Given the description of an element on the screen output the (x, y) to click on. 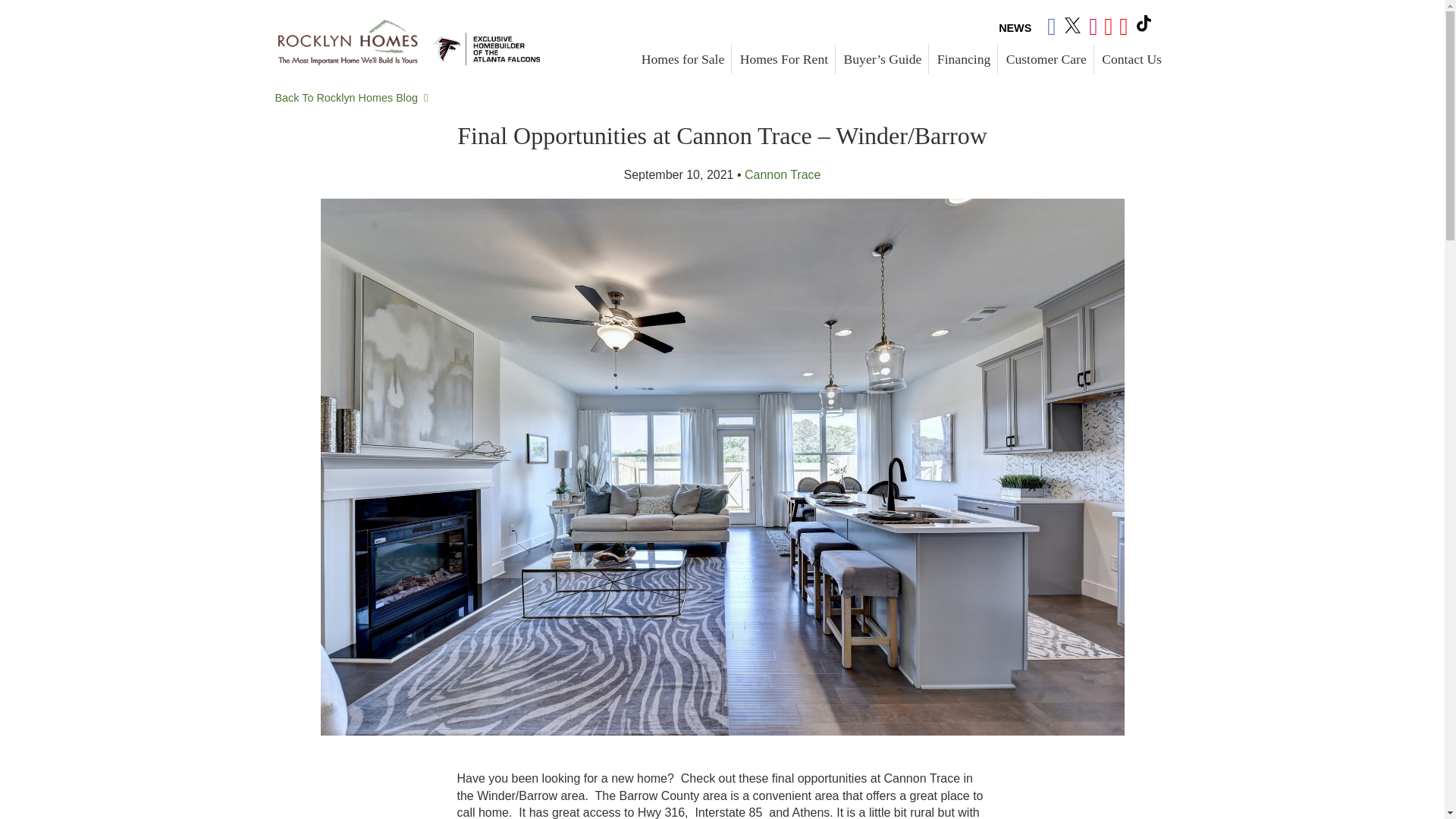
Homes for Sale (682, 59)
NEWS (1015, 27)
Homes For Rent (783, 59)
